Given the description of an element on the screen output the (x, y) to click on. 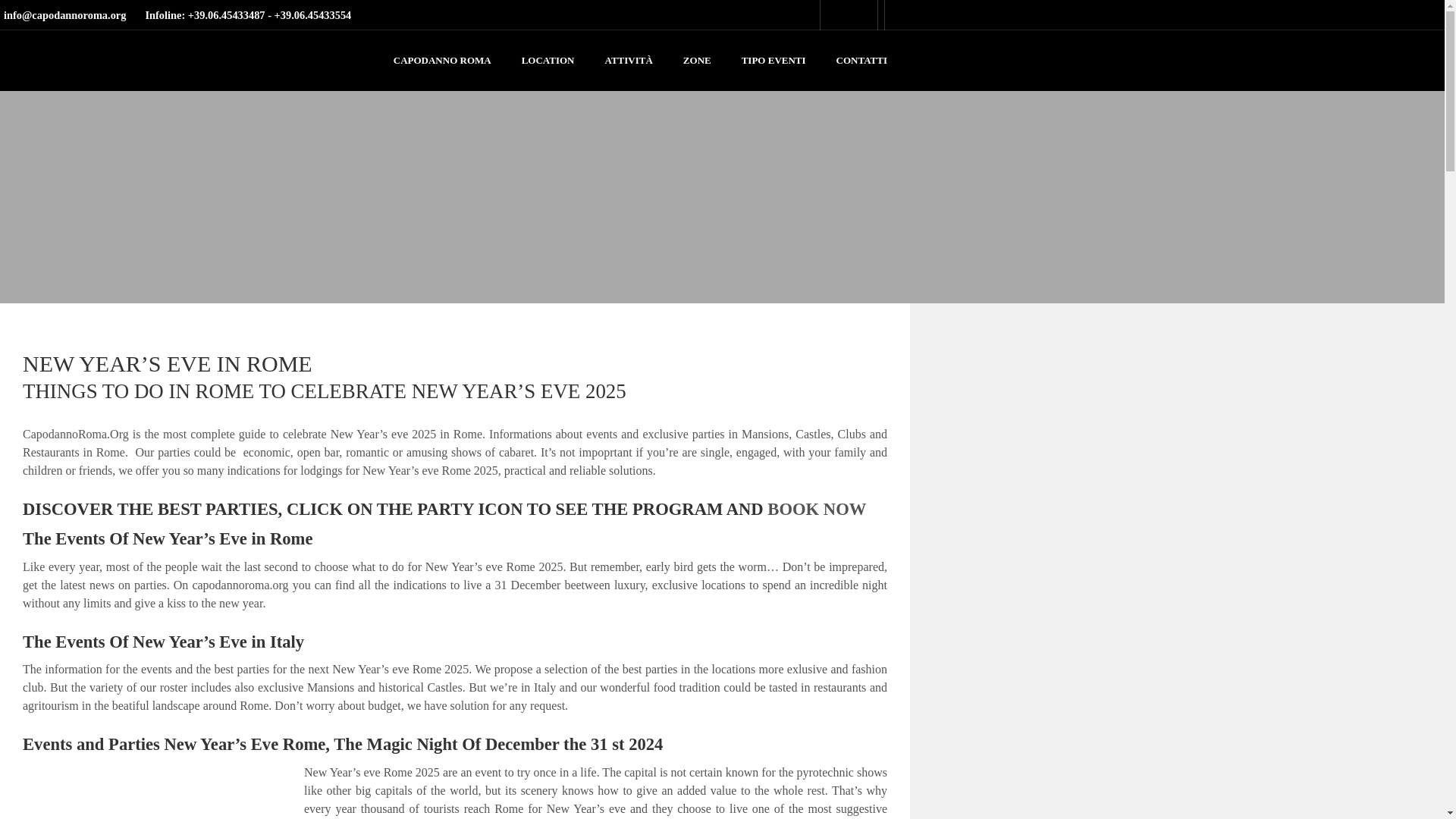
CAPODANNO ROMA (442, 60)
New Year Eve in Rome (154, 790)
